Given the description of an element on the screen output the (x, y) to click on. 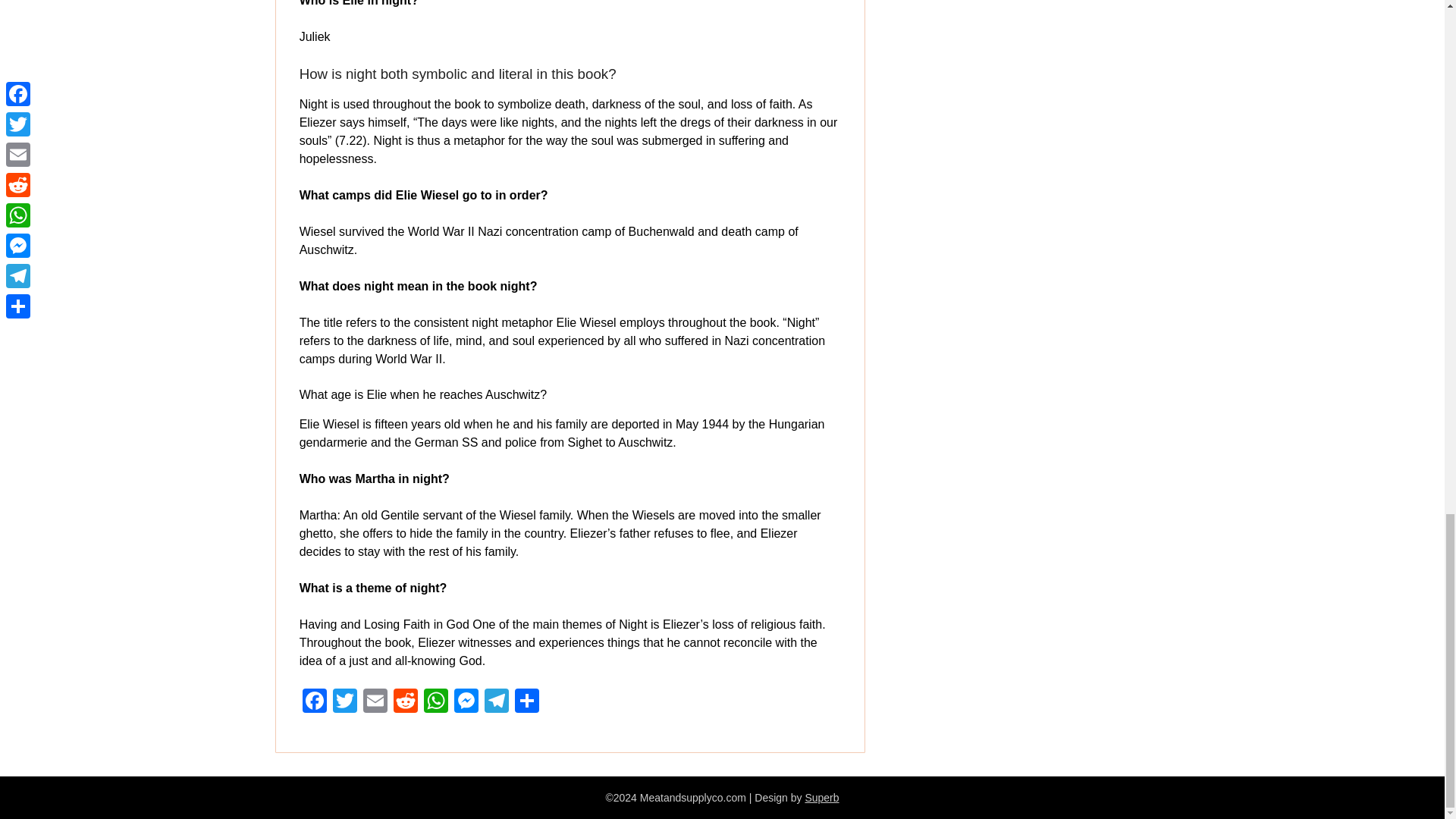
Messenger (466, 702)
Email (374, 702)
Facebook (314, 702)
Email (374, 702)
Superb (821, 797)
Messenger (466, 702)
Telegram (496, 702)
WhatsApp (435, 702)
Twitter (344, 702)
Telegram (496, 702)
WhatsApp (435, 702)
Facebook (314, 702)
Twitter (344, 702)
Reddit (405, 702)
Reddit (405, 702)
